Given the description of an element on the screen output the (x, y) to click on. 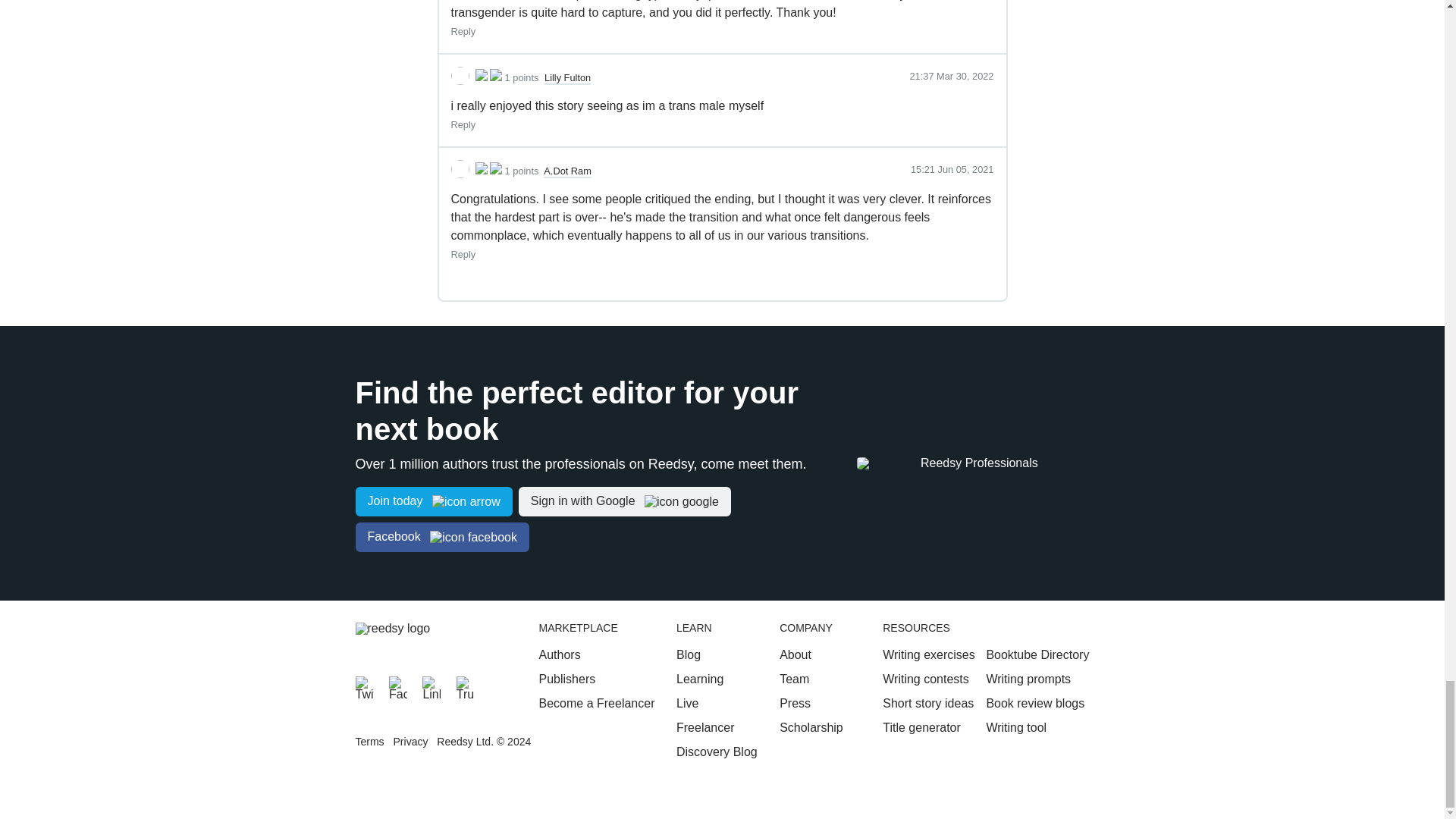
Sign in with Facebook (441, 537)
LinkedIn (431, 685)
Trustpilot (465, 685)
Facebook (397, 685)
Twitter (363, 685)
Sign up (433, 501)
Sign in with Google (624, 501)
